Given the description of an element on the screen output the (x, y) to click on. 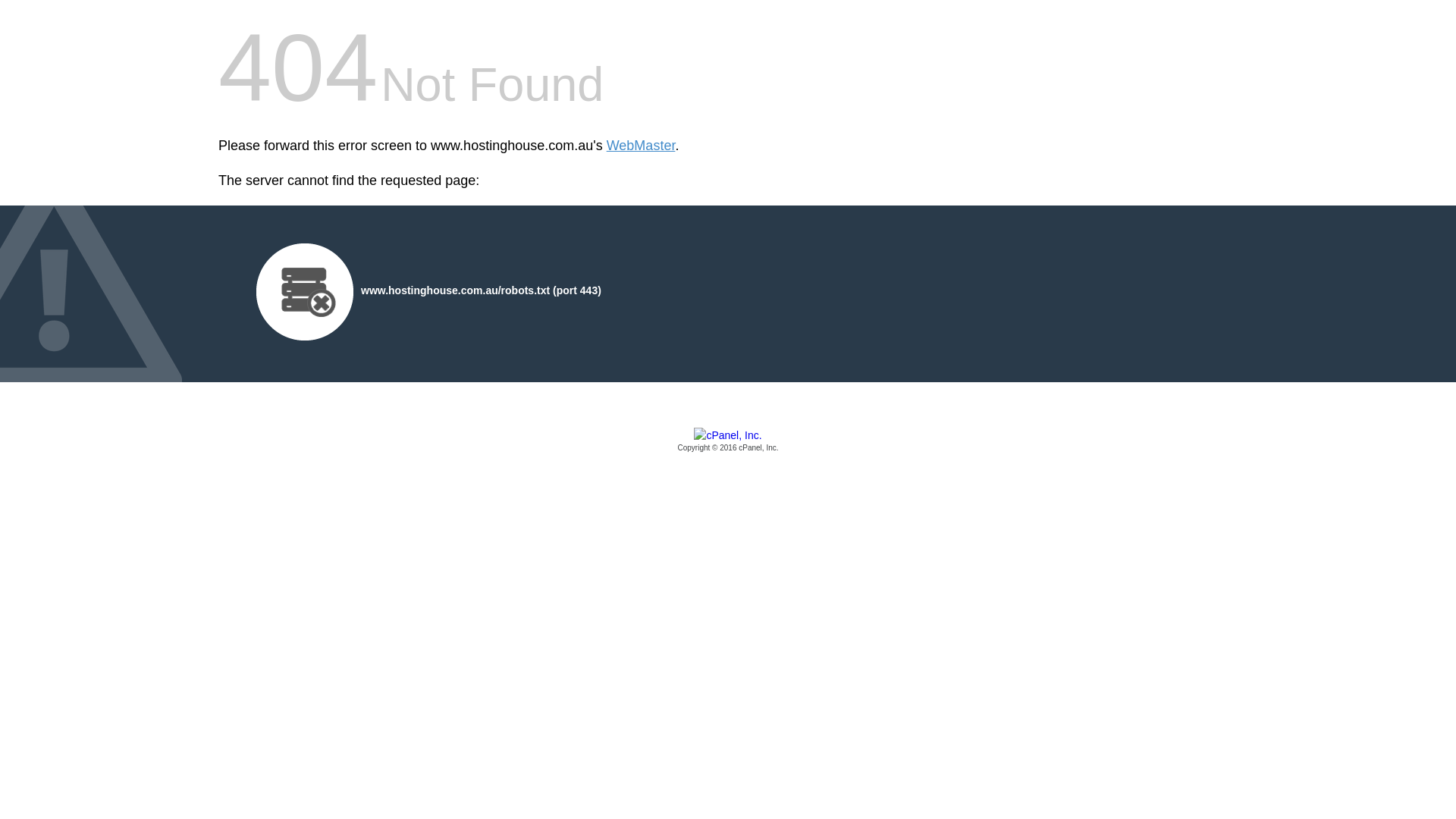
WebMaster Element type: text (640, 145)
